Given the description of an element on the screen output the (x, y) to click on. 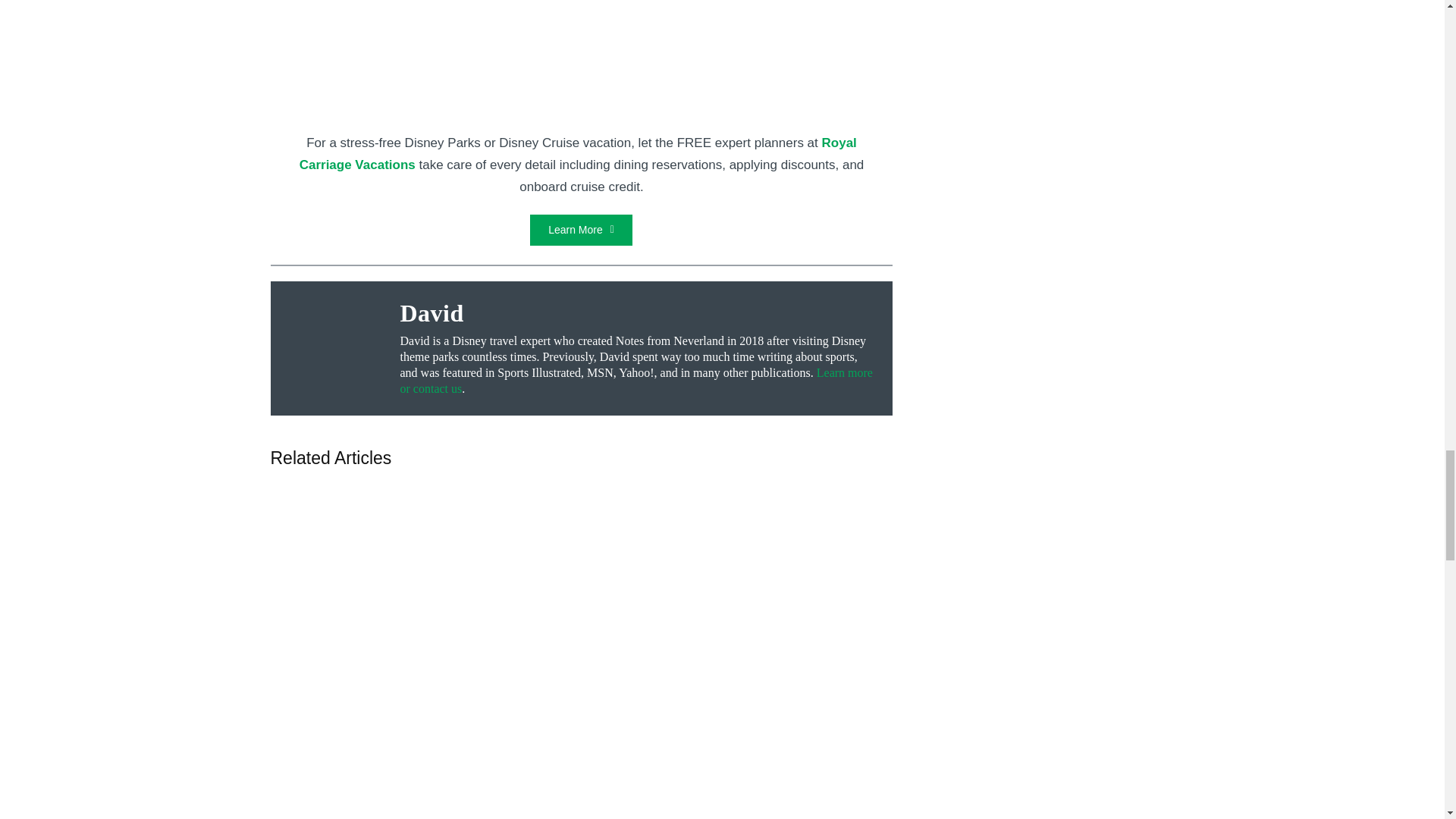
NFN-Royal-Carriage-Travel-Agency (581, 123)
Learn More (580, 229)
David (638, 313)
Royal Carriage Vacations (578, 153)
Learn More (580, 229)
